Given the description of an element on the screen output the (x, y) to click on. 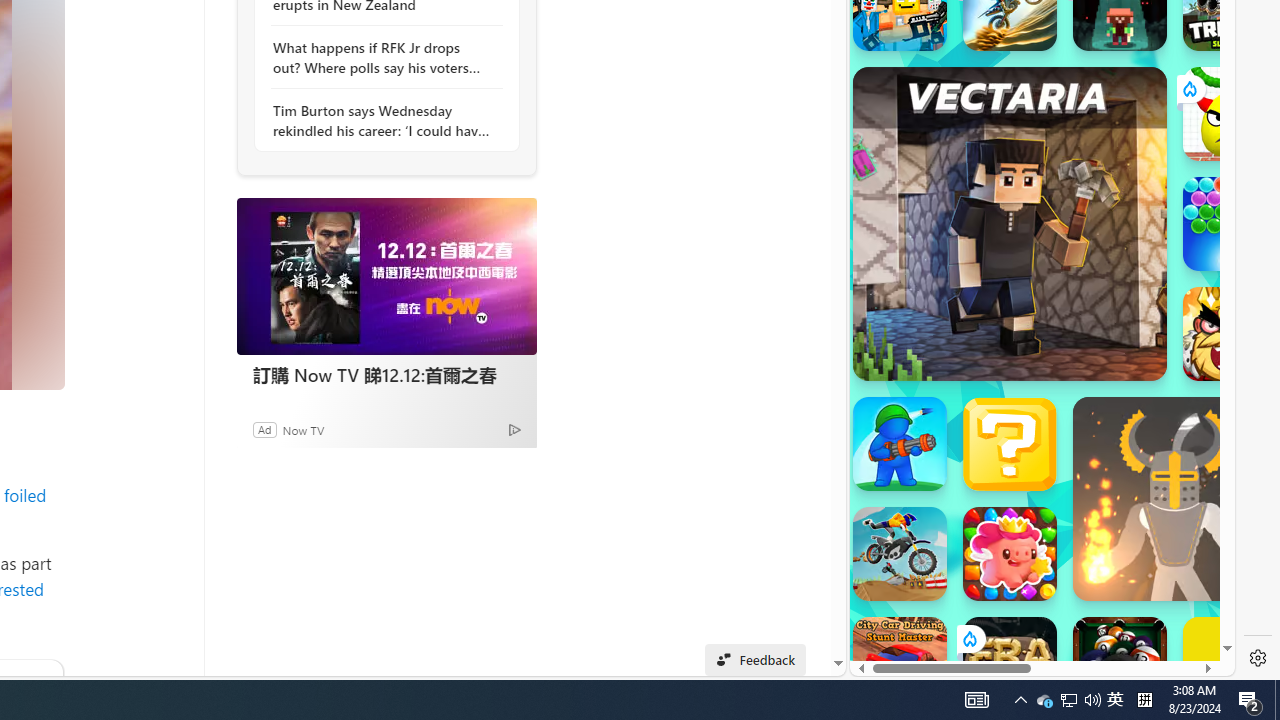
Draw To Smash: Logic Puzzle (1229, 113)
Bubble Shooter (1229, 223)
Mystery Tile (1009, 443)
Hills of Steel (943, 200)
Hills of Steel (943, 300)
City Car Driving: Stunt Master (899, 664)
Class: rCs5cyEiqiTpYvt_VBCR (968, 638)
War Master War Master (899, 443)
SUBWAY SURFERS - Play Online for Free! | Poki (1034, 624)
Match Arena Match Arena (1009, 553)
Combat Reloaded (1092, 200)
Combat Reloaded (1092, 300)
Match Arena (1009, 553)
